Given the description of an element on the screen output the (x, y) to click on. 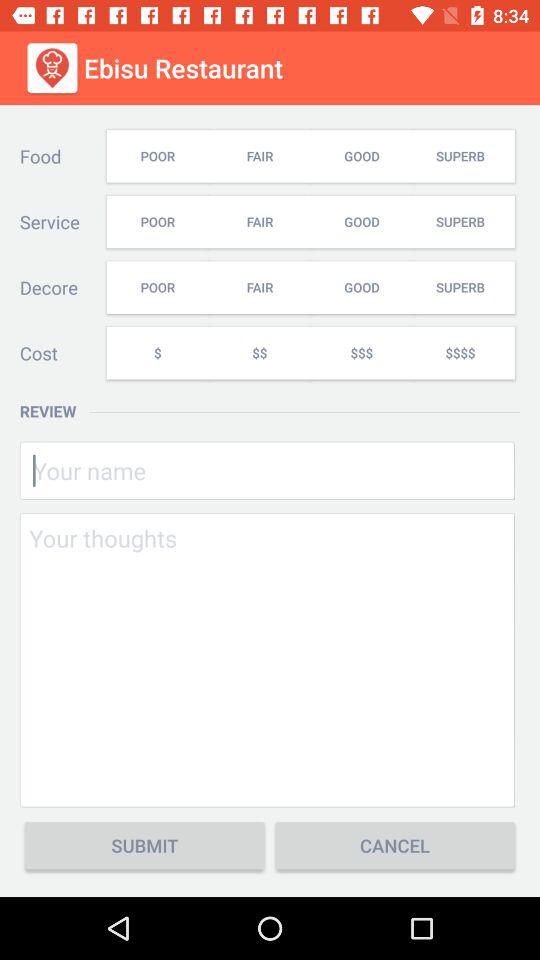
select item next to $$ item (361, 352)
